Given the description of an element on the screen output the (x, y) to click on. 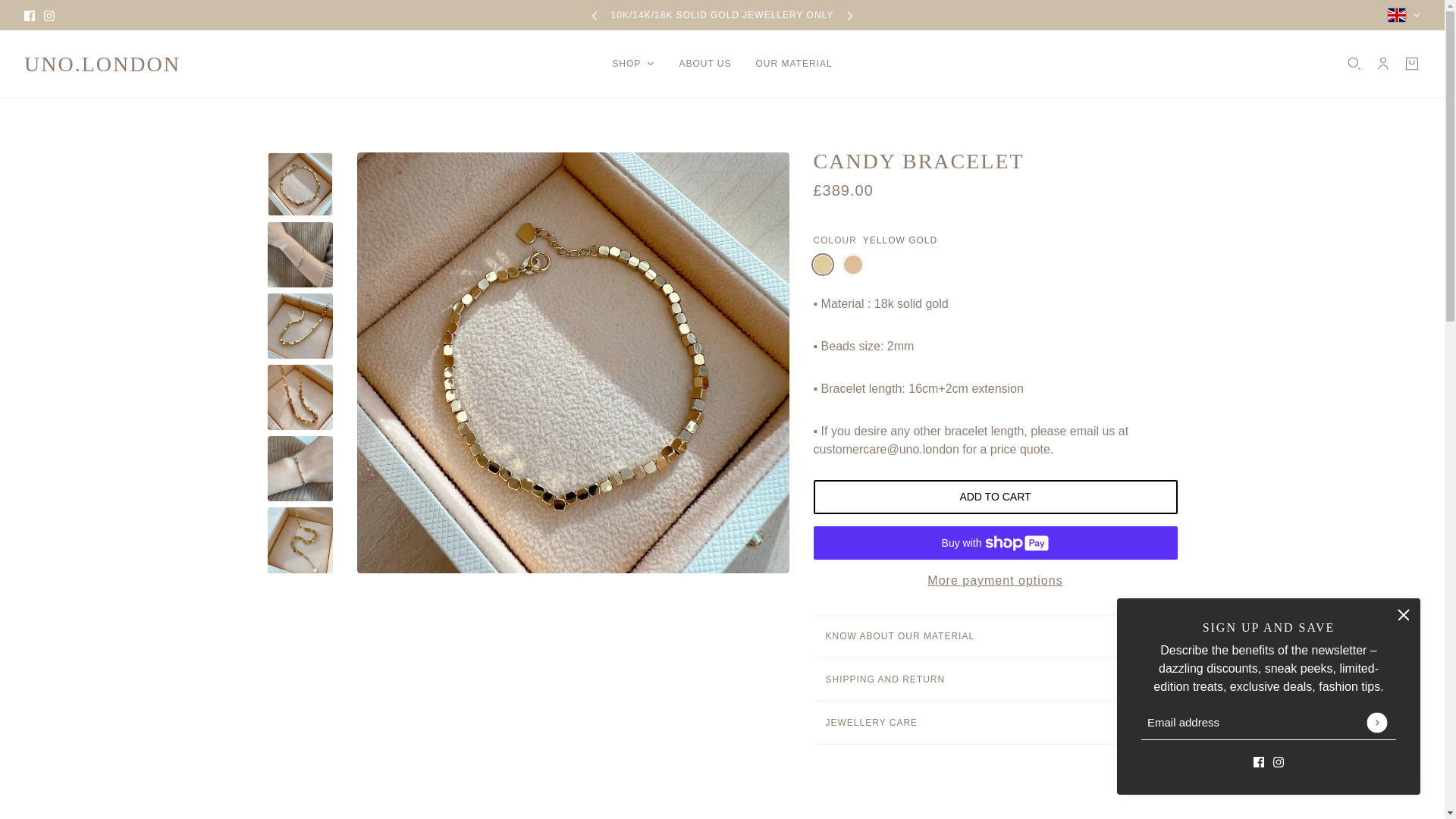
UNO.LONDON (102, 59)
OUR MATERIAL (793, 63)
ABOUT US (704, 63)
SHIPPING AND RETURN (994, 679)
UNO.LONDON (102, 59)
KNOW ABOUT OUR MATERIAL (994, 636)
ADD TO CART (994, 496)
JEWELLERY CARE (994, 722)
More payment options (994, 574)
SHOP (632, 63)
